Given the description of an element on the screen output the (x, y) to click on. 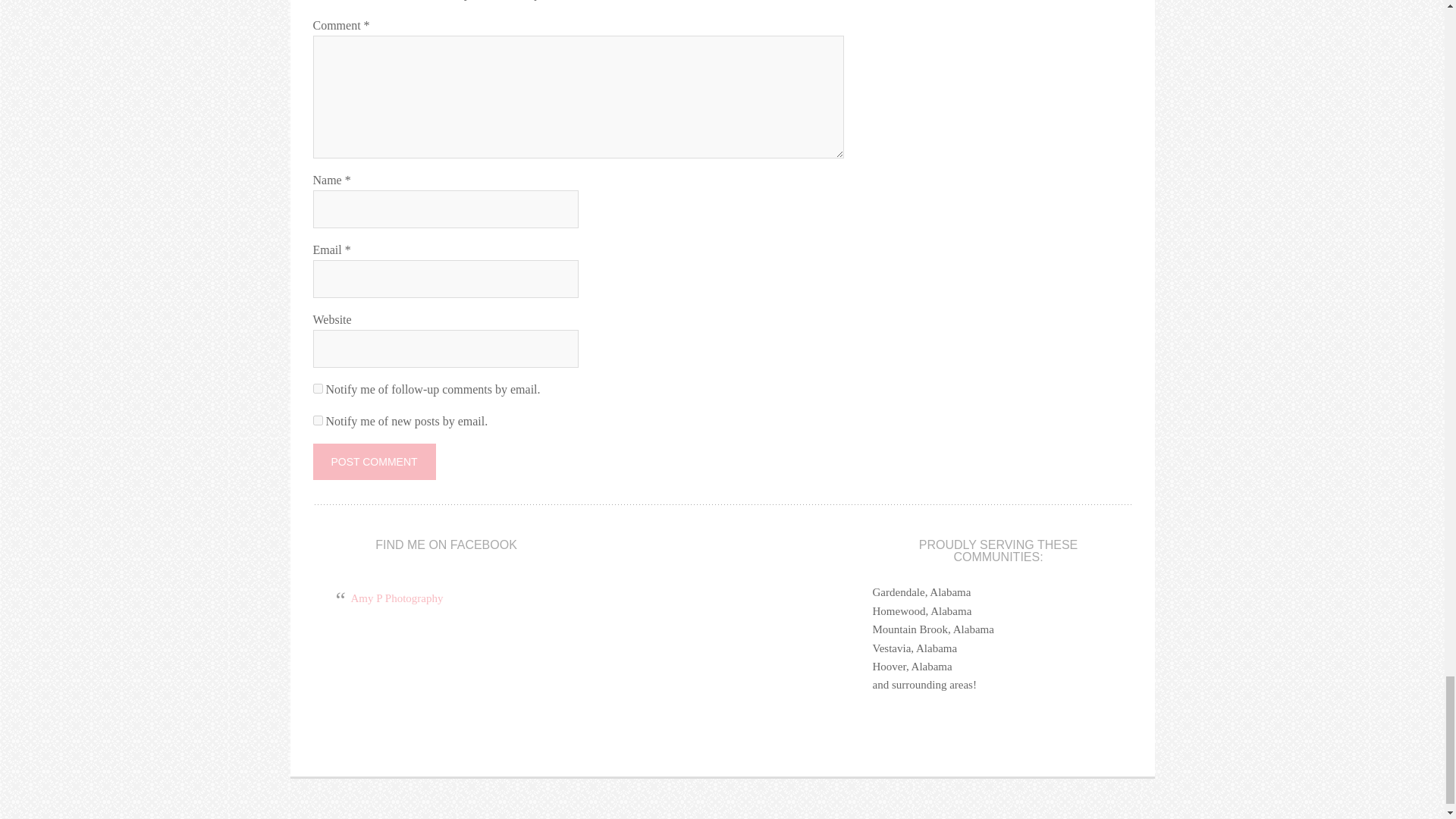
subscribe (317, 420)
Post Comment (374, 461)
subscribe (317, 388)
